Given the description of an element on the screen output the (x, y) to click on. 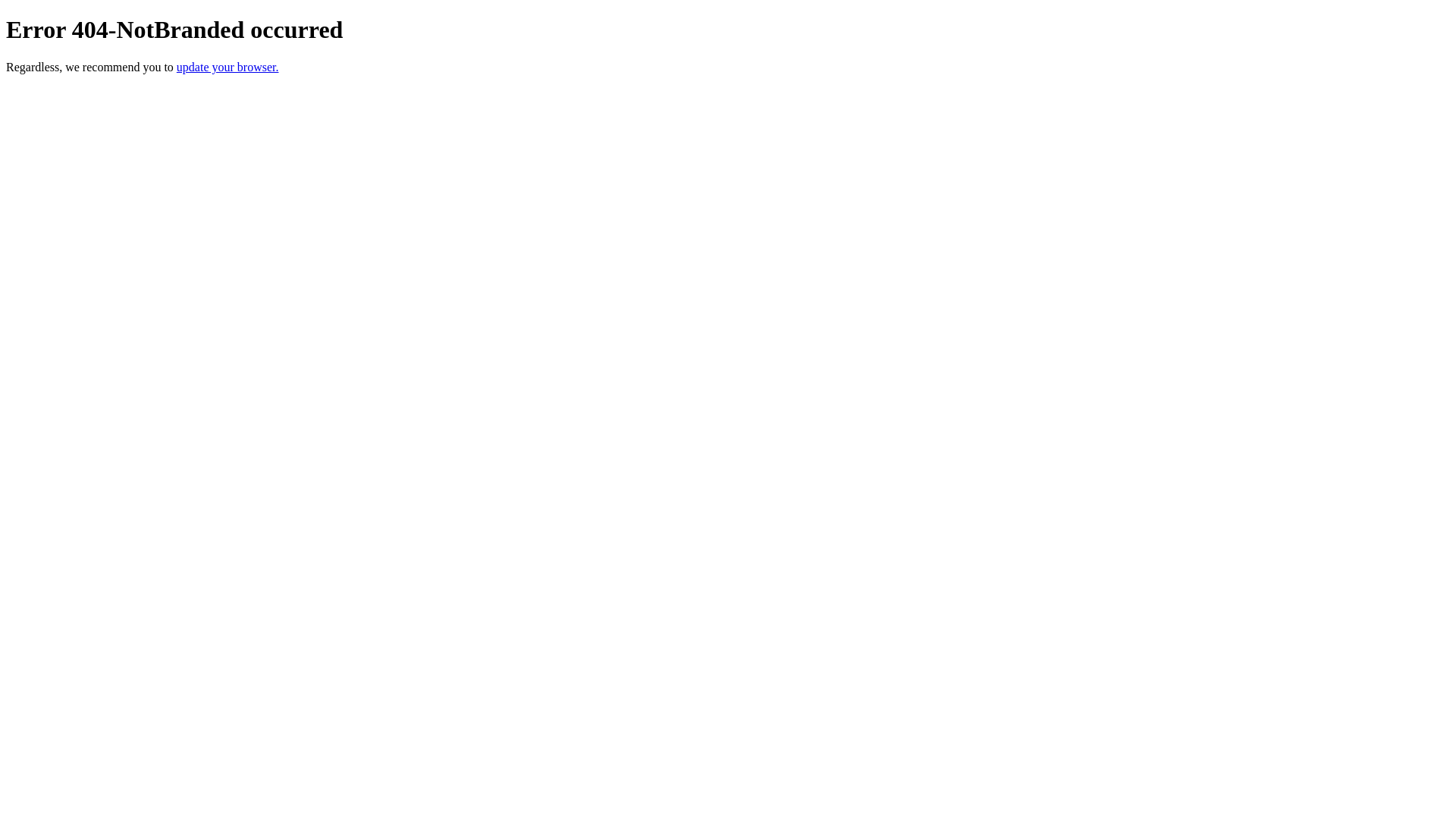
update your browser. Element type: text (227, 66)
